Given the description of an element on the screen output the (x, y) to click on. 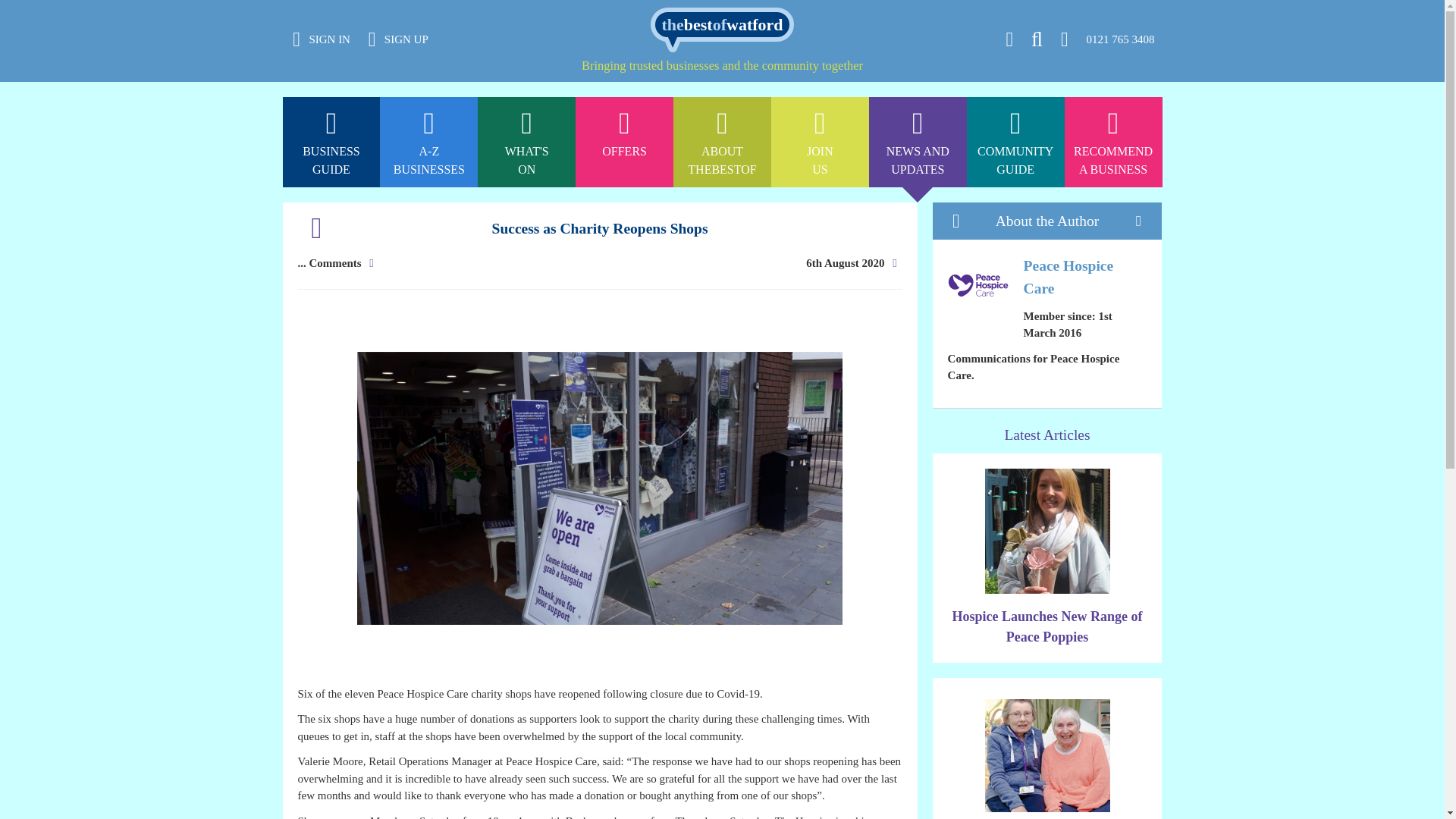
0121 765 3408 (526, 7)
SIGN IN (917, 142)
SIGN UP (820, 142)
